Given the description of an element on the screen output the (x, y) to click on. 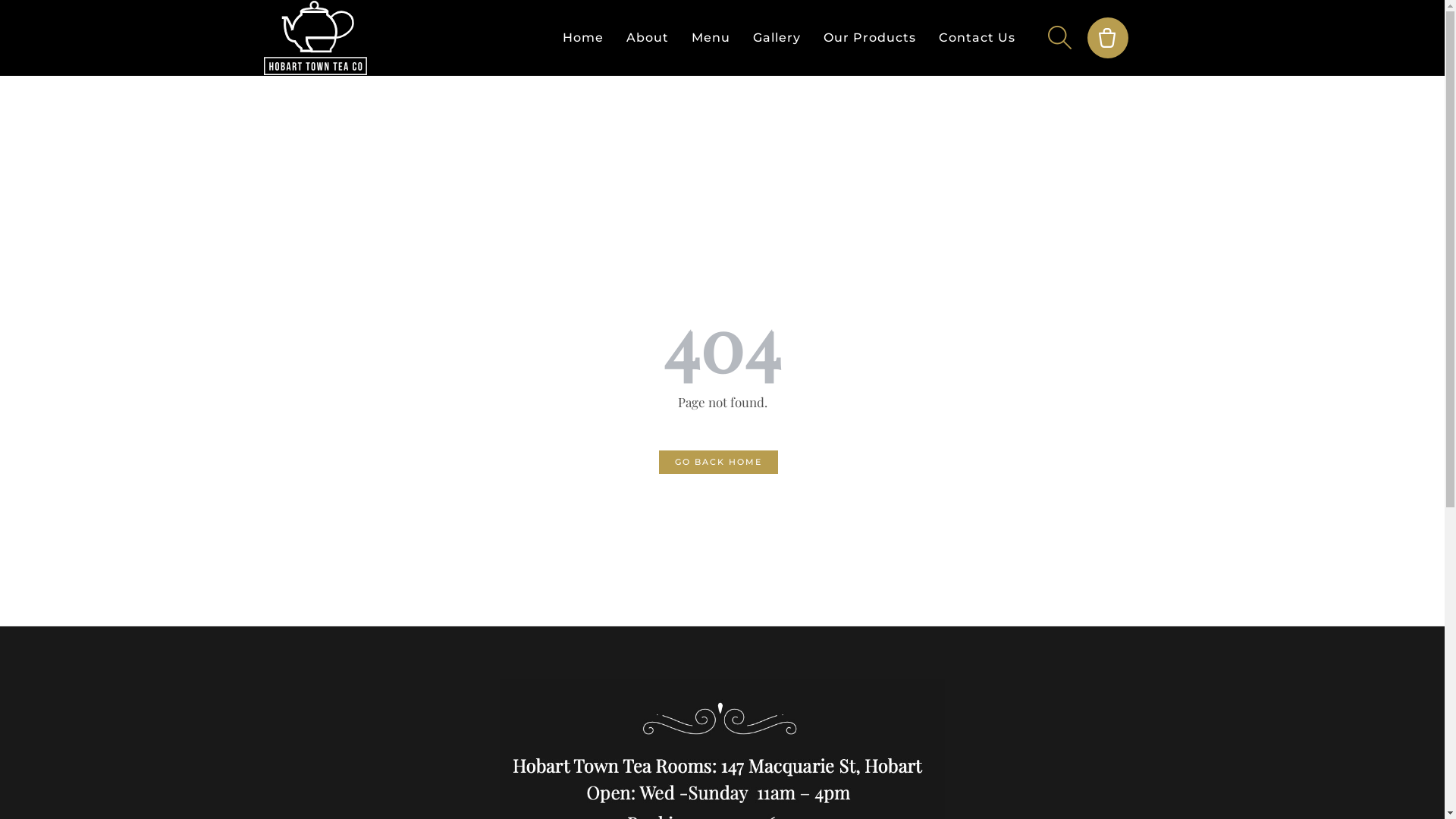
About Element type: text (647, 37)
Contact Us Element type: text (976, 37)
GO BACK HOME Element type: text (718, 461)
Gallery Element type: text (776, 37)
Menu Element type: text (710, 37)
Home Element type: text (582, 37)
Our Products Element type: text (869, 37)
